Given the description of an element on the screen output the (x, y) to click on. 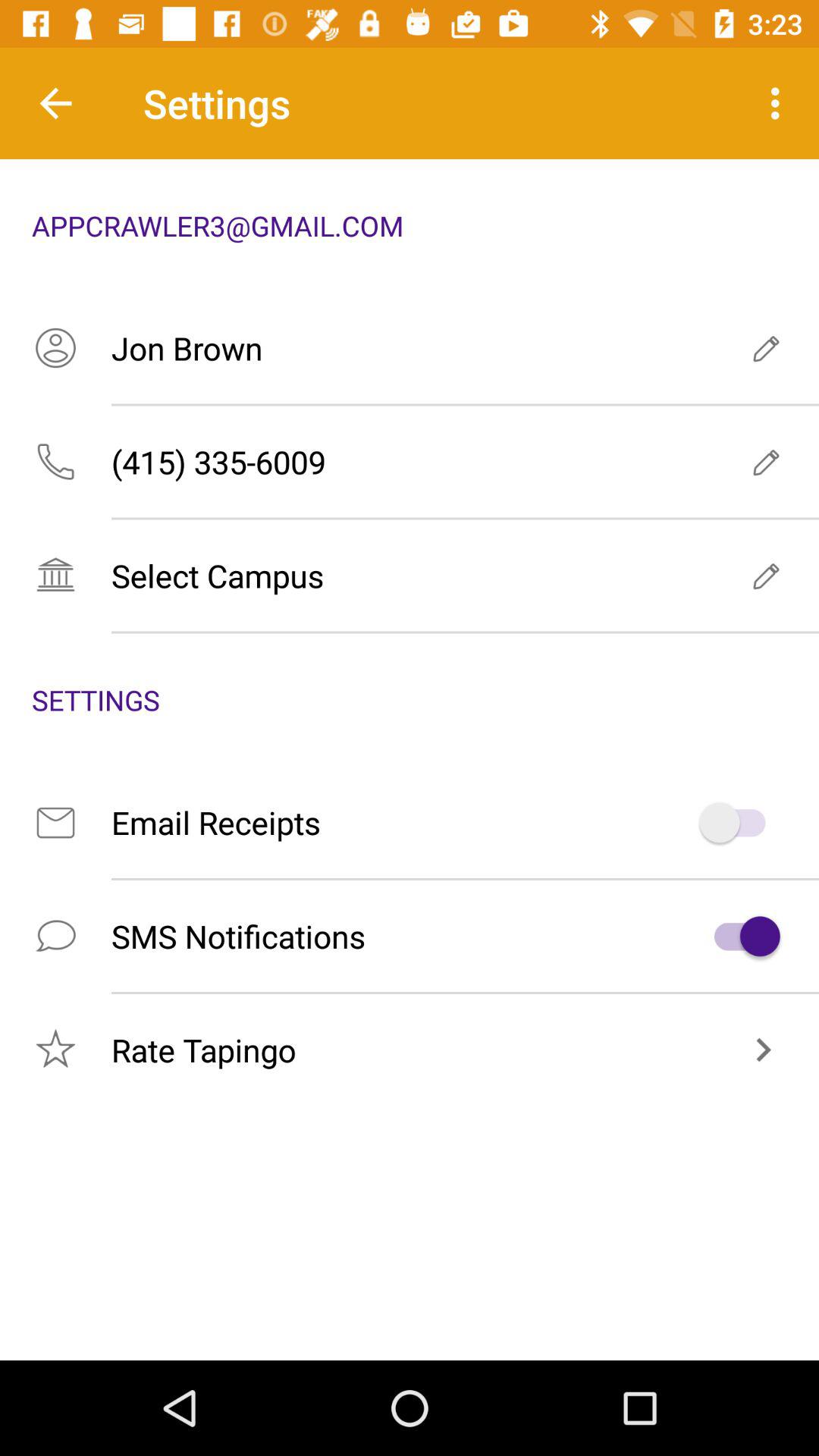
launch the item above the rate tapingo icon (409, 935)
